Given the description of an element on the screen output the (x, y) to click on. 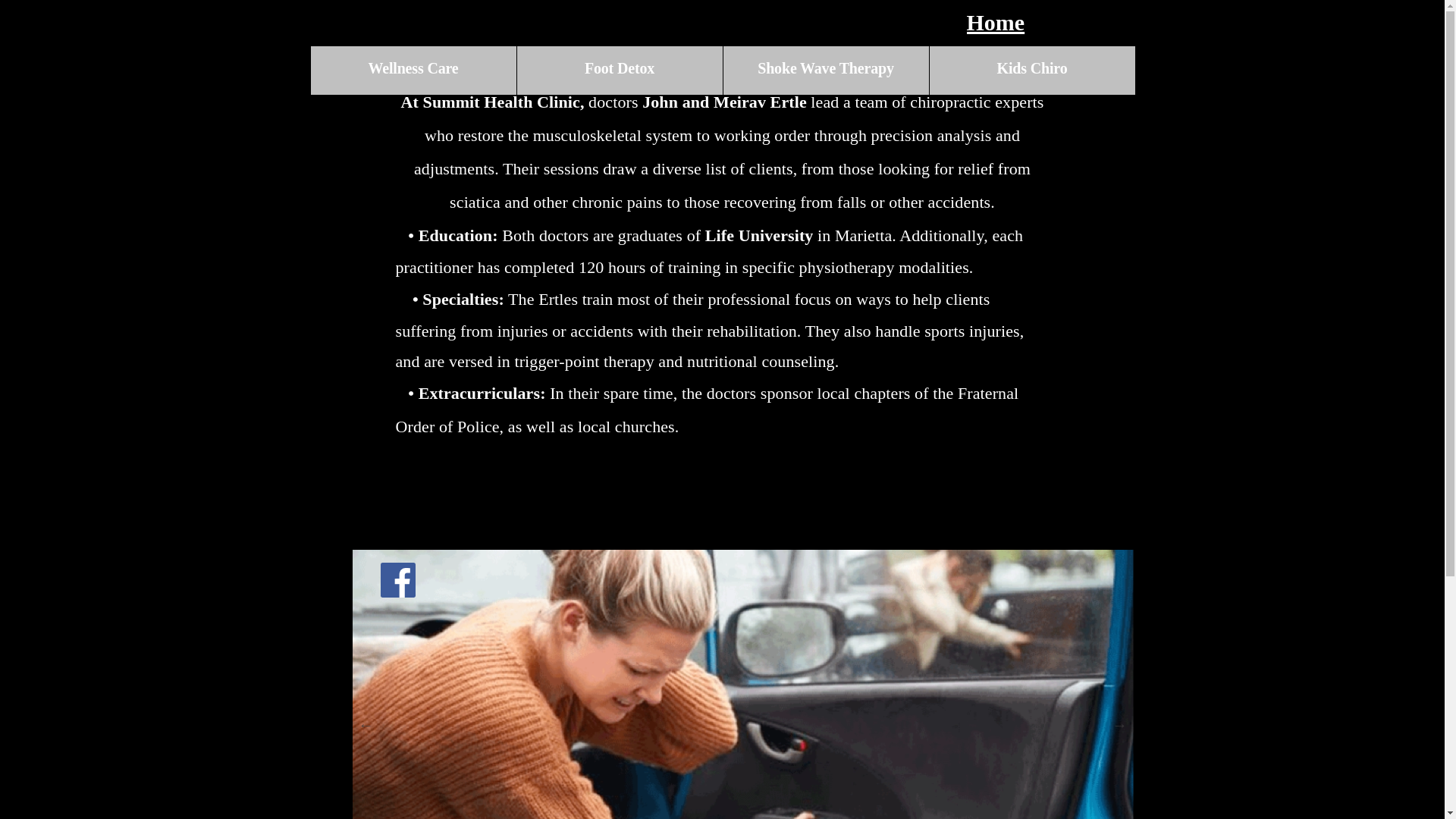
Home (995, 22)
Previous (365, 724)
Next (1119, 724)
